Given the description of an element on the screen output the (x, y) to click on. 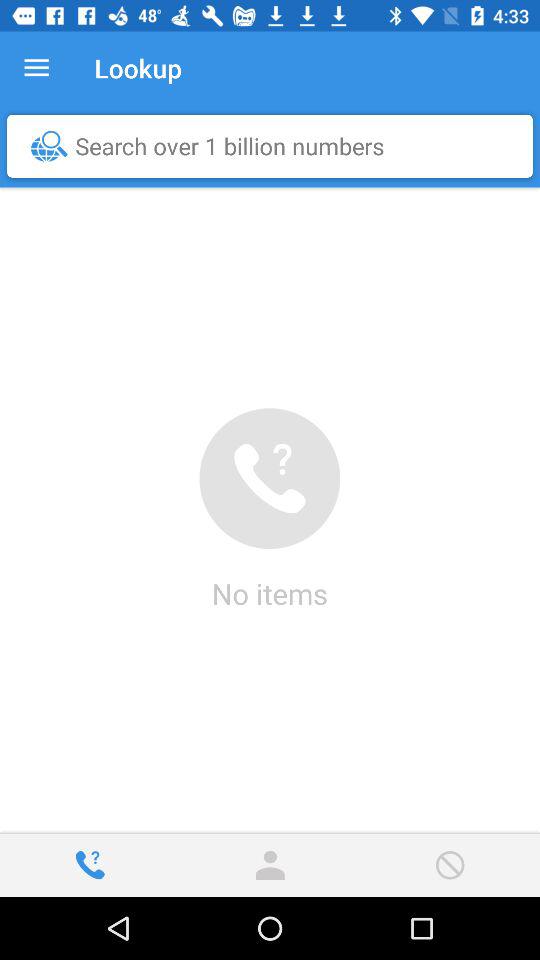
turn off item next to the lookup (36, 68)
